Given the description of an element on the screen output the (x, y) to click on. 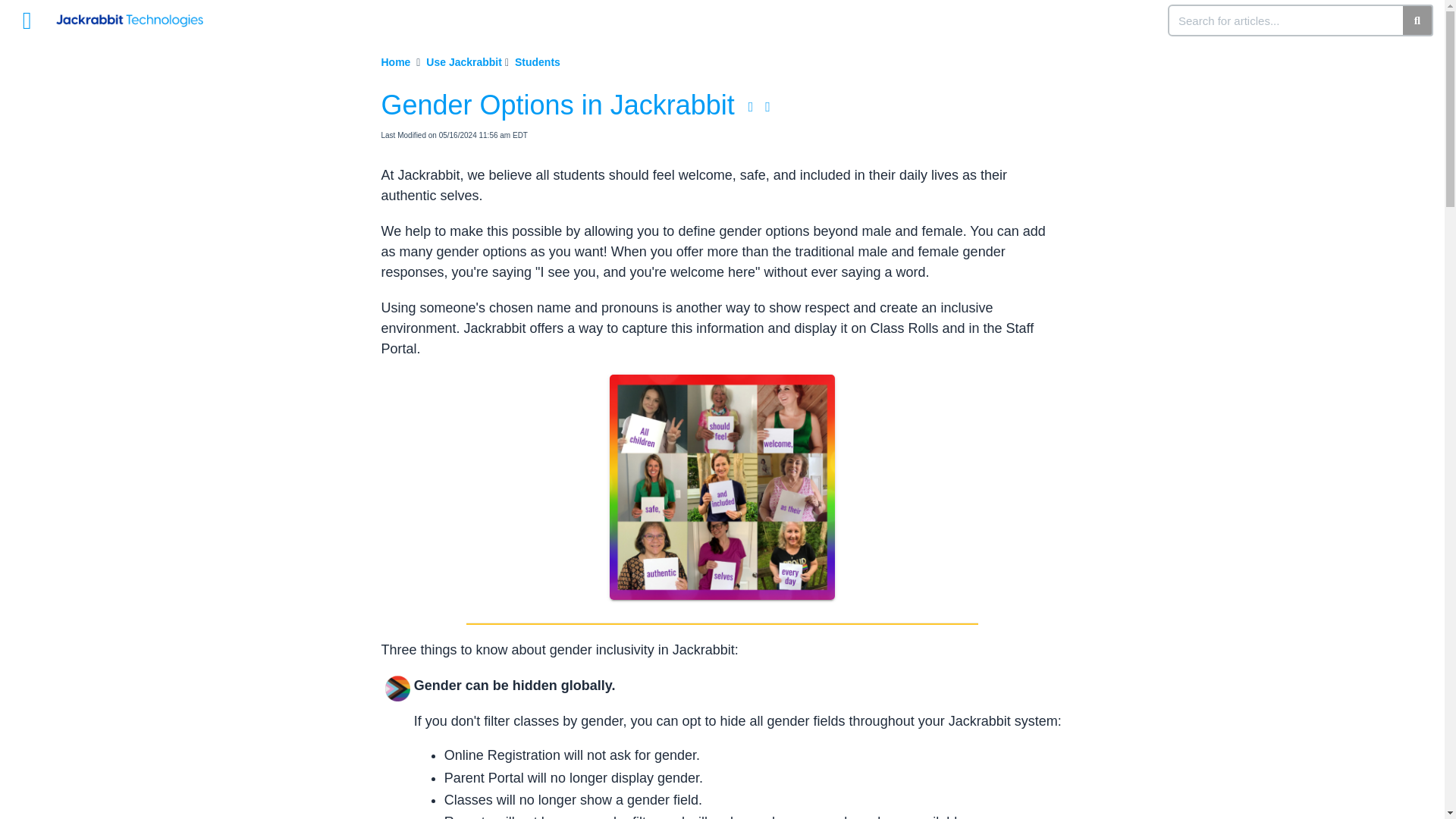
Students (539, 62)
Search (1286, 20)
Use Jackrabbit (465, 62)
Your site (135, 13)
Search (1417, 20)
Download PDF (751, 106)
